Given the description of an element on the screen output the (x, y) to click on. 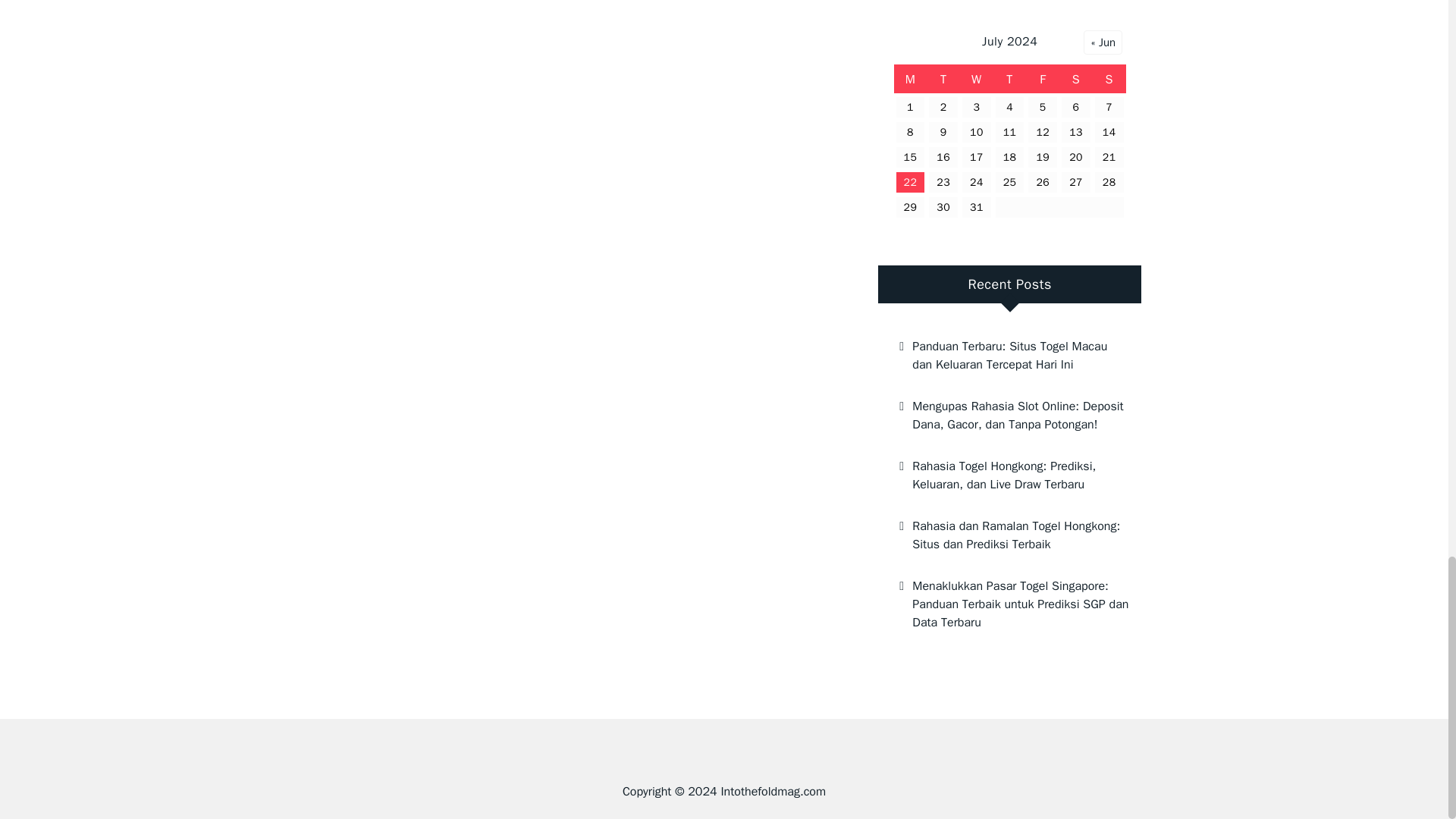
Thursday (1009, 79)
Saturday (1076, 79)
Wednesday (975, 79)
Monday (910, 79)
Friday (1042, 79)
Sunday (1109, 79)
Tuesday (942, 79)
